Given the description of an element on the screen output the (x, y) to click on. 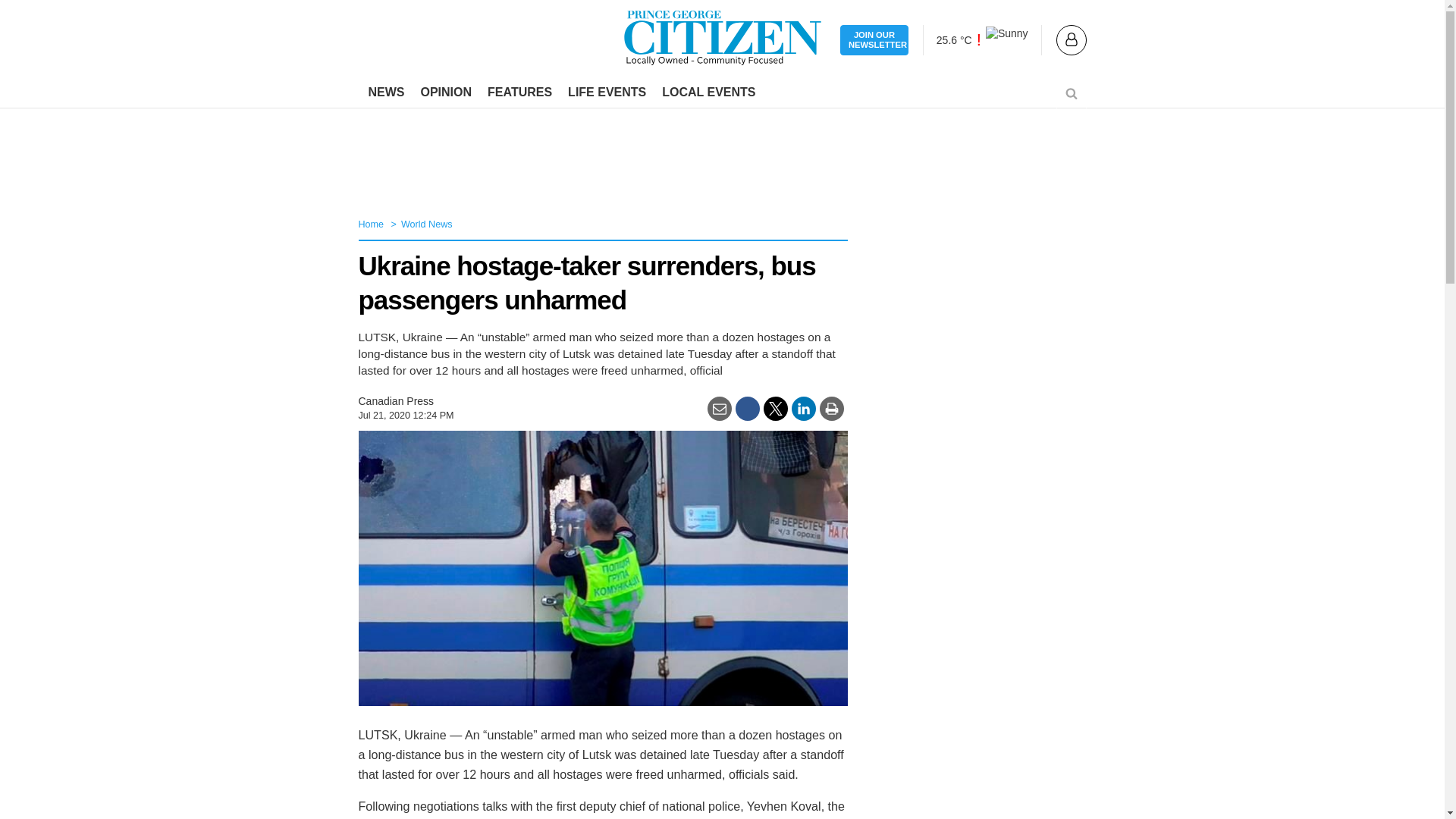
NEWS (386, 92)
JOIN OUR NEWSLETTER (874, 40)
OPINION (445, 92)
